Given the description of an element on the screen output the (x, y) to click on. 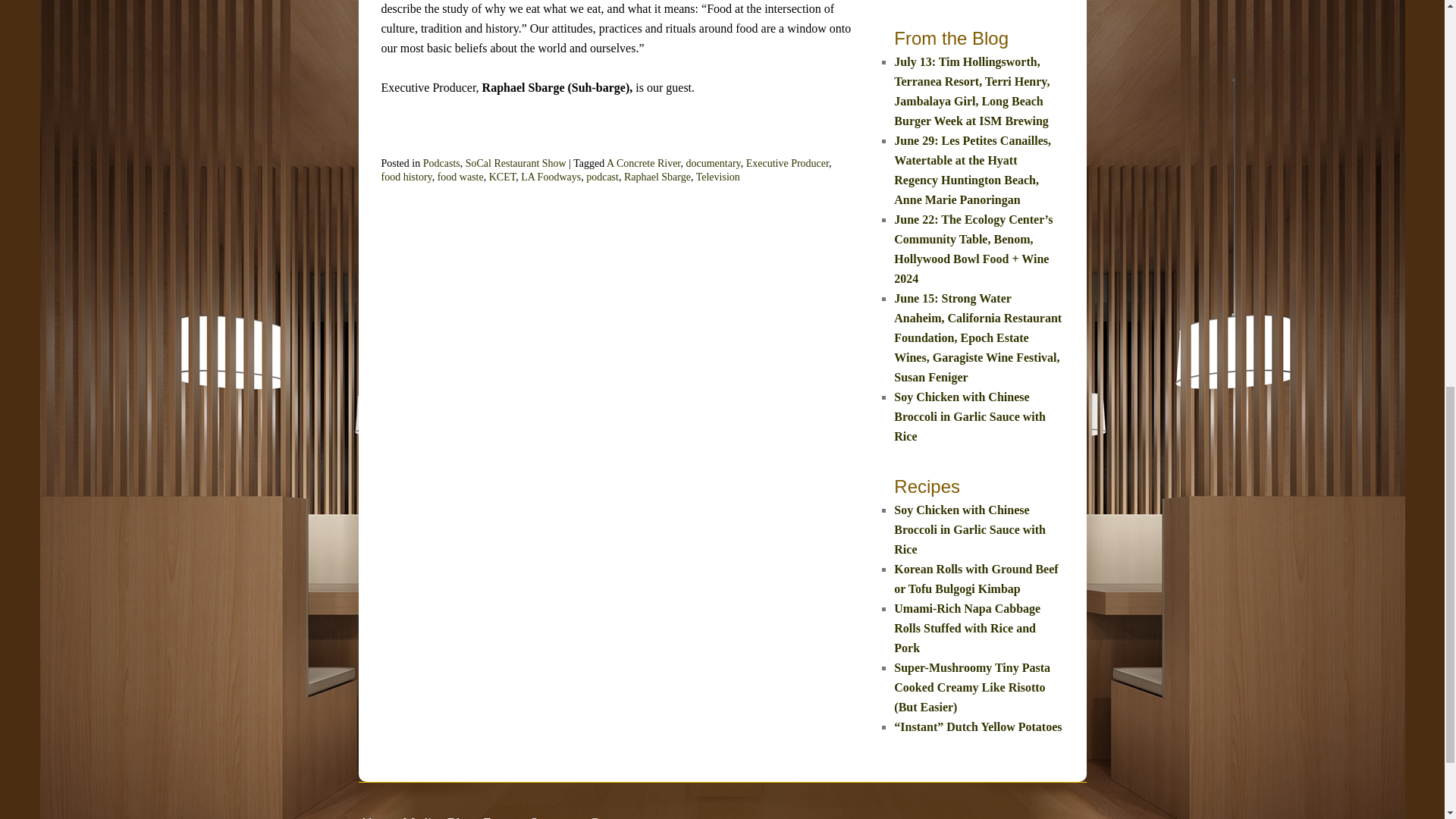
Podcasts (441, 163)
documentary (712, 163)
food waste (460, 176)
KCET (502, 176)
food history (405, 176)
Television (717, 176)
A Concrete River (643, 163)
podcast (602, 176)
Raphael Sbarge (657, 176)
Executive Producer (786, 163)
SoCal Restaurant Show (515, 163)
LA Foodways (550, 176)
